Given the description of an element on the screen output the (x, y) to click on. 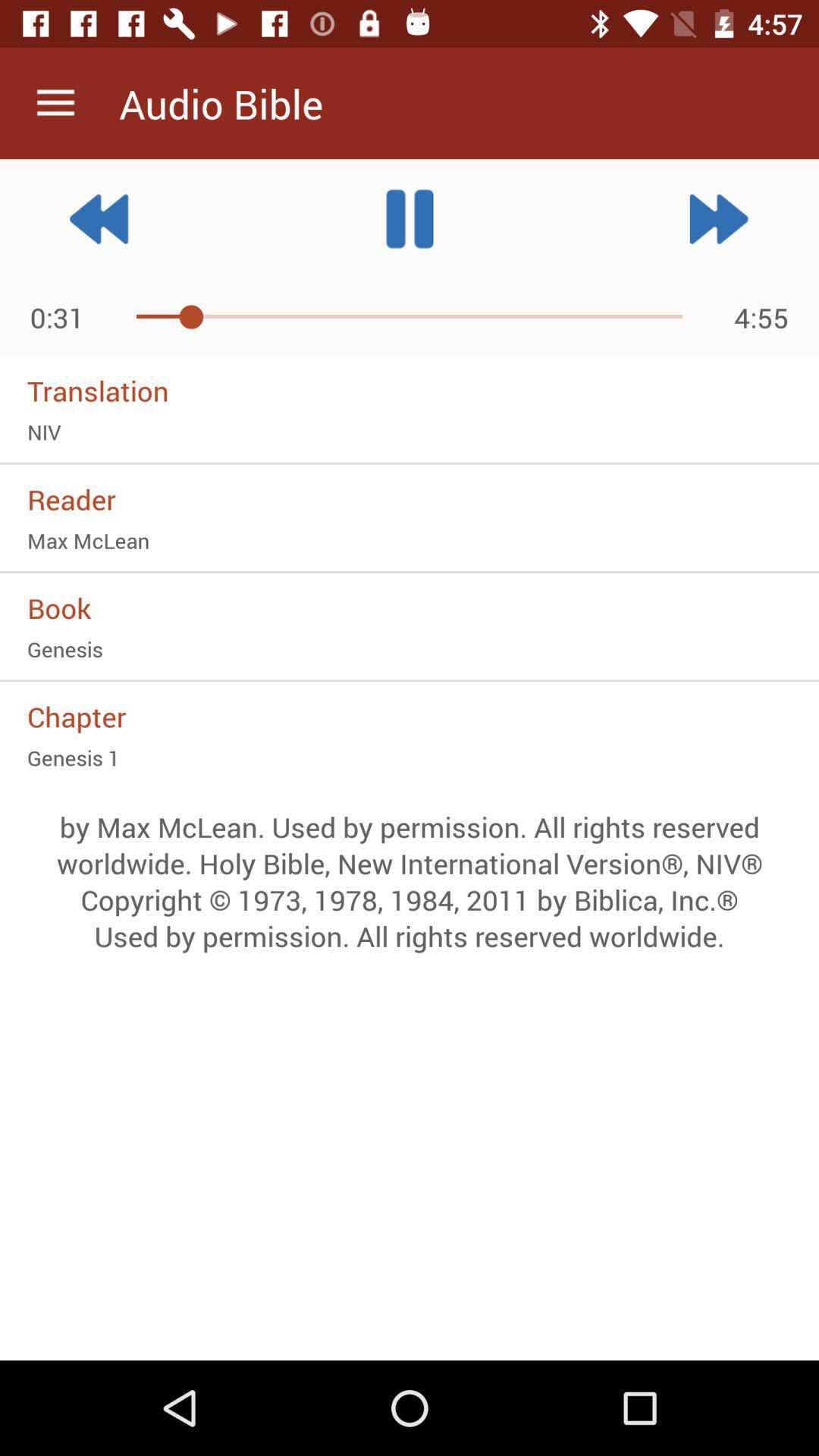
choose the icon below niv icon (409, 499)
